Given the description of an element on the screen output the (x, y) to click on. 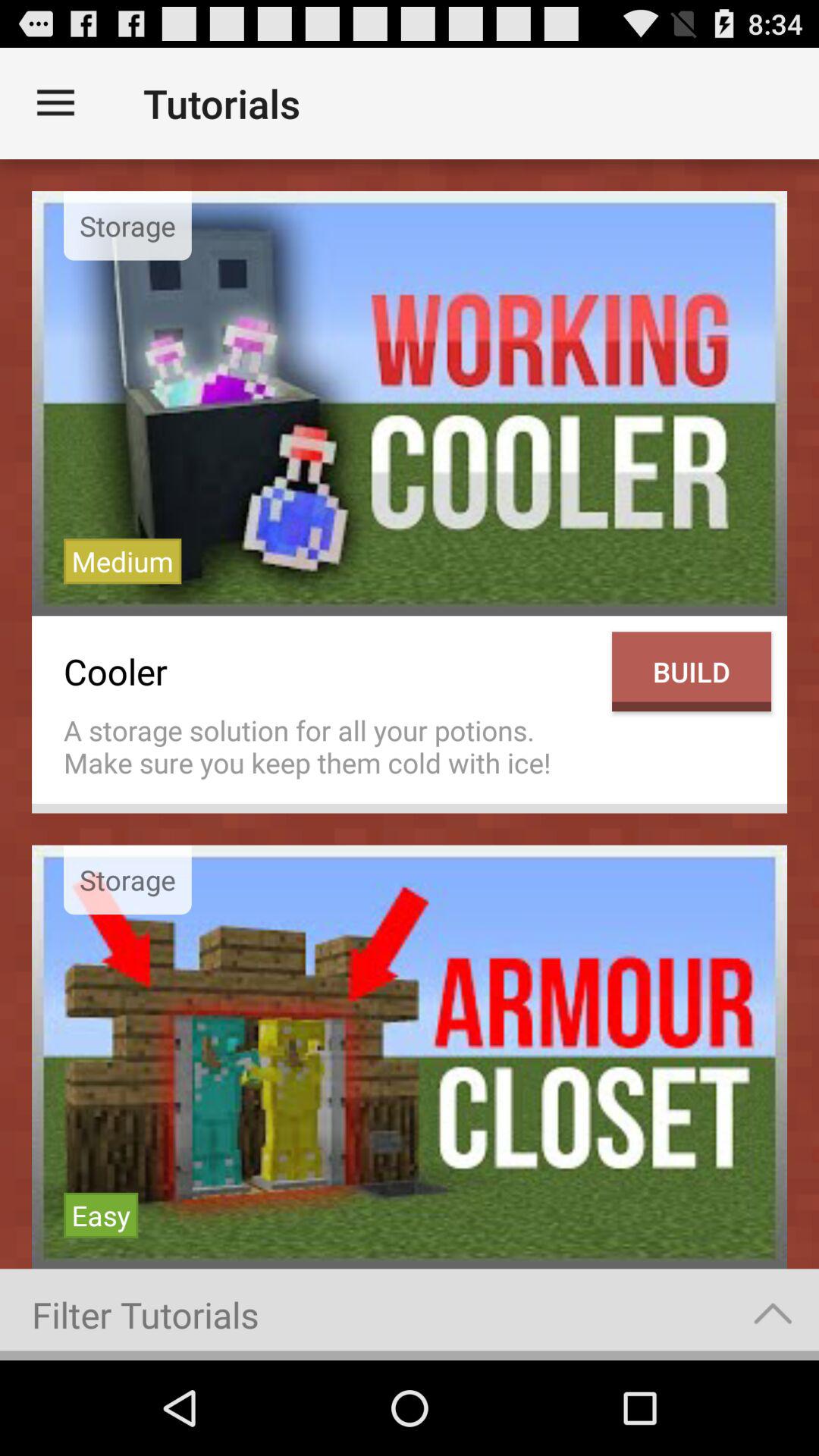
select item to the left of tutorials app (55, 103)
